Given the description of an element on the screen output the (x, y) to click on. 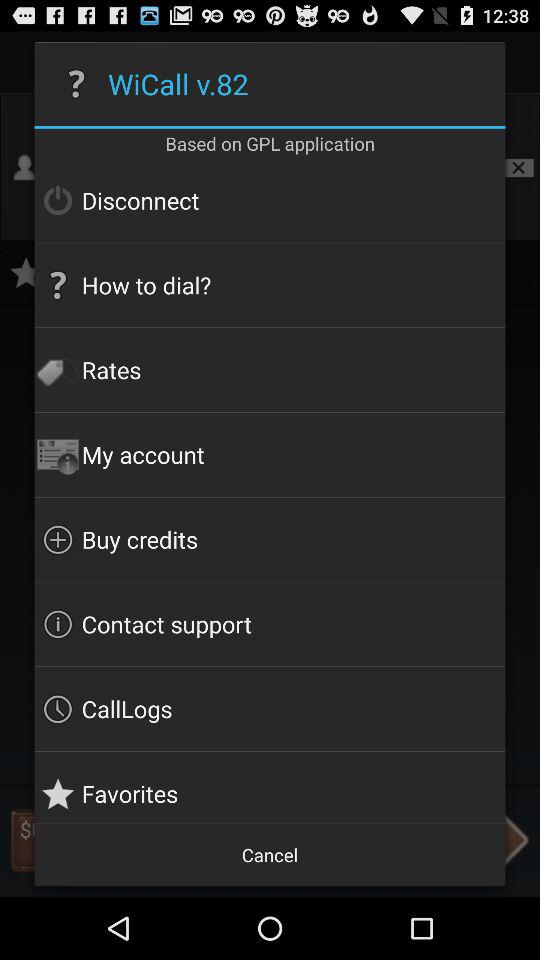
select disconnect (269, 200)
